Given the description of an element on the screen output the (x, y) to click on. 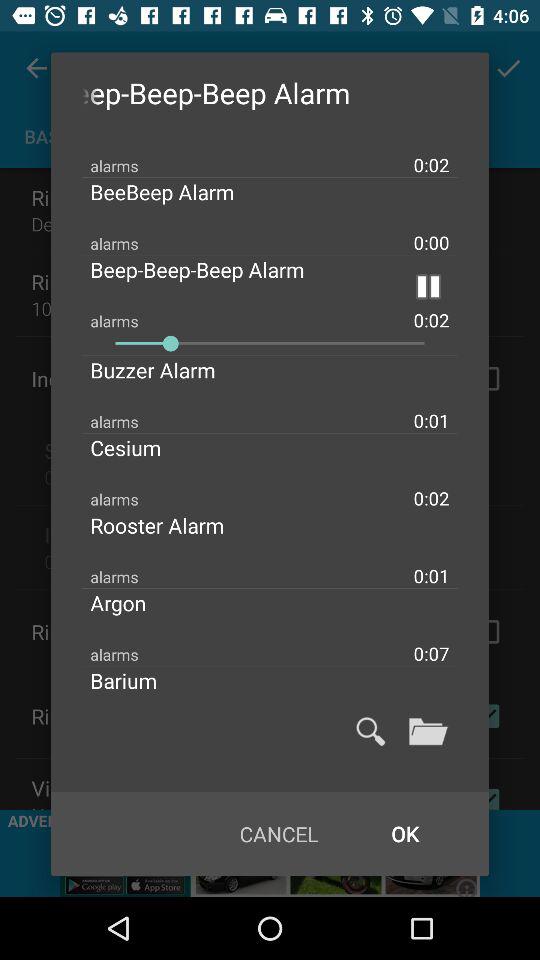
scroll until ok (404, 833)
